Given the description of an element on the screen output the (x, y) to click on. 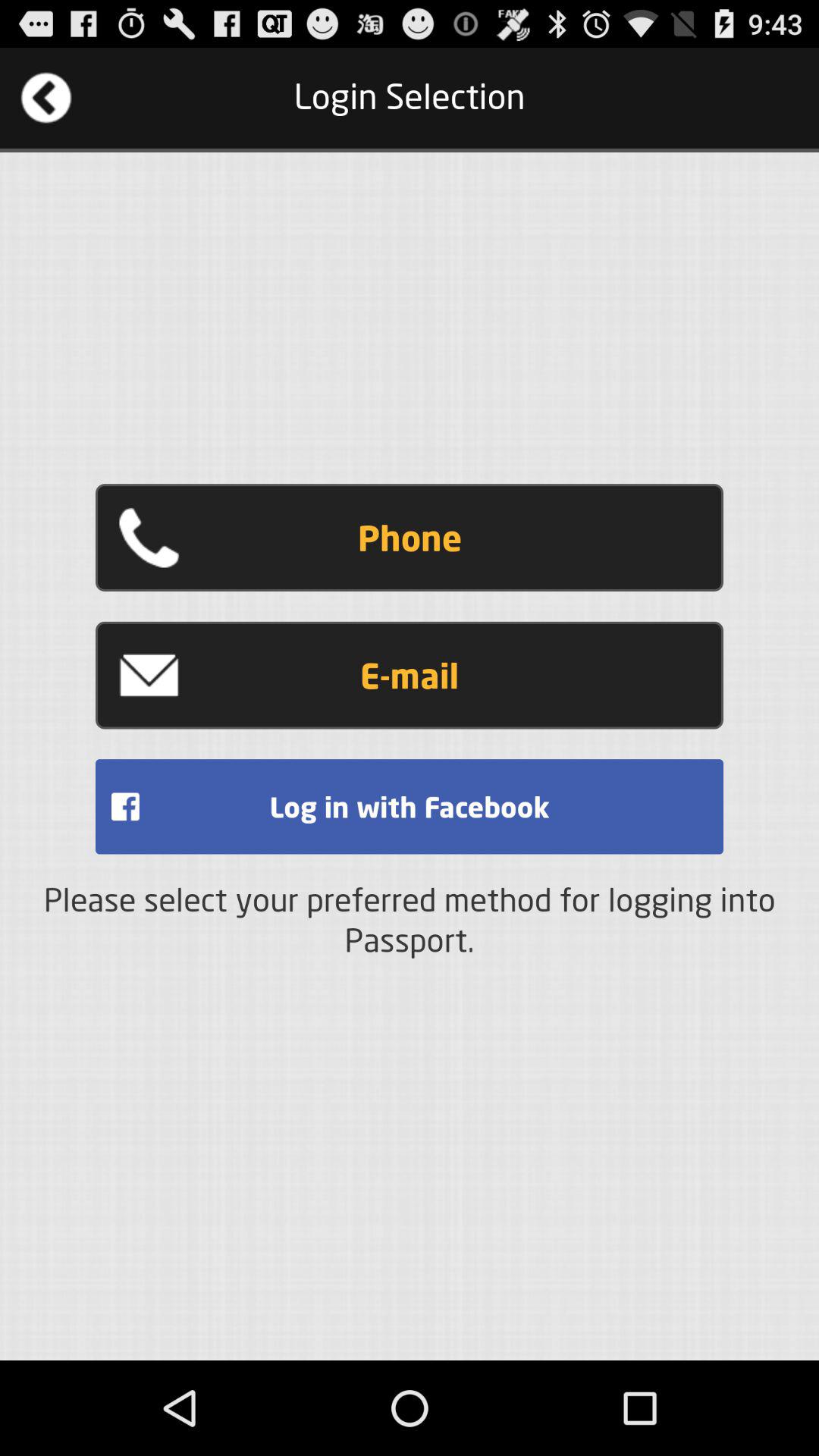
tap button above e-mail icon (409, 537)
